Given the description of an element on the screen output the (x, y) to click on. 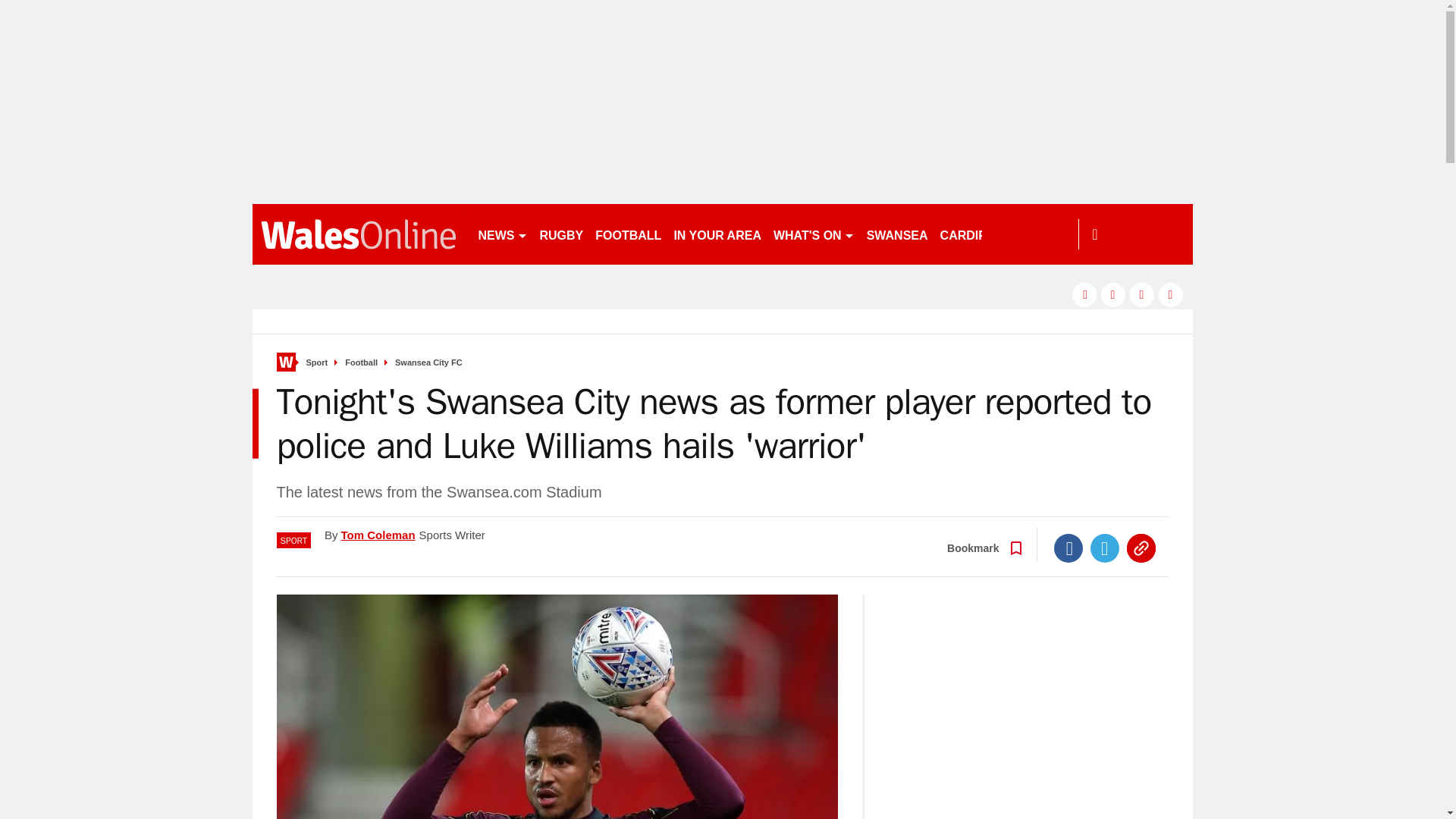
FOOTBALL (627, 233)
walesonline (357, 233)
NEWS (501, 233)
RUGBY (561, 233)
Twitter (1104, 547)
IN YOUR AREA (716, 233)
instagram (1170, 294)
SWANSEA (897, 233)
Facebook (1068, 547)
twitter (1112, 294)
facebook (1083, 294)
pinterest (1141, 294)
WHAT'S ON (813, 233)
